Given the description of an element on the screen output the (x, y) to click on. 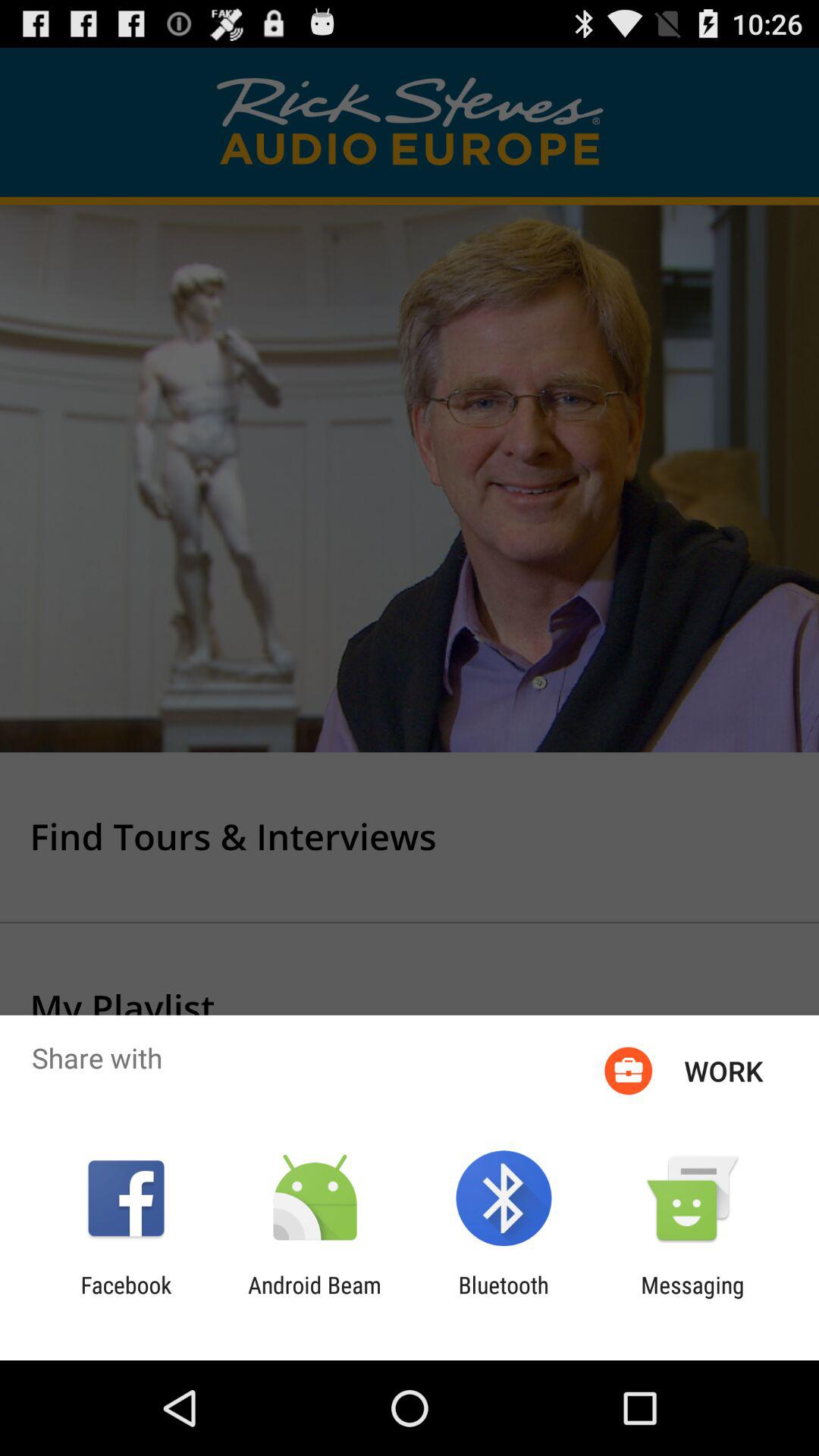
launch icon next to bluetooth item (314, 1298)
